Given the description of an element on the screen output the (x, y) to click on. 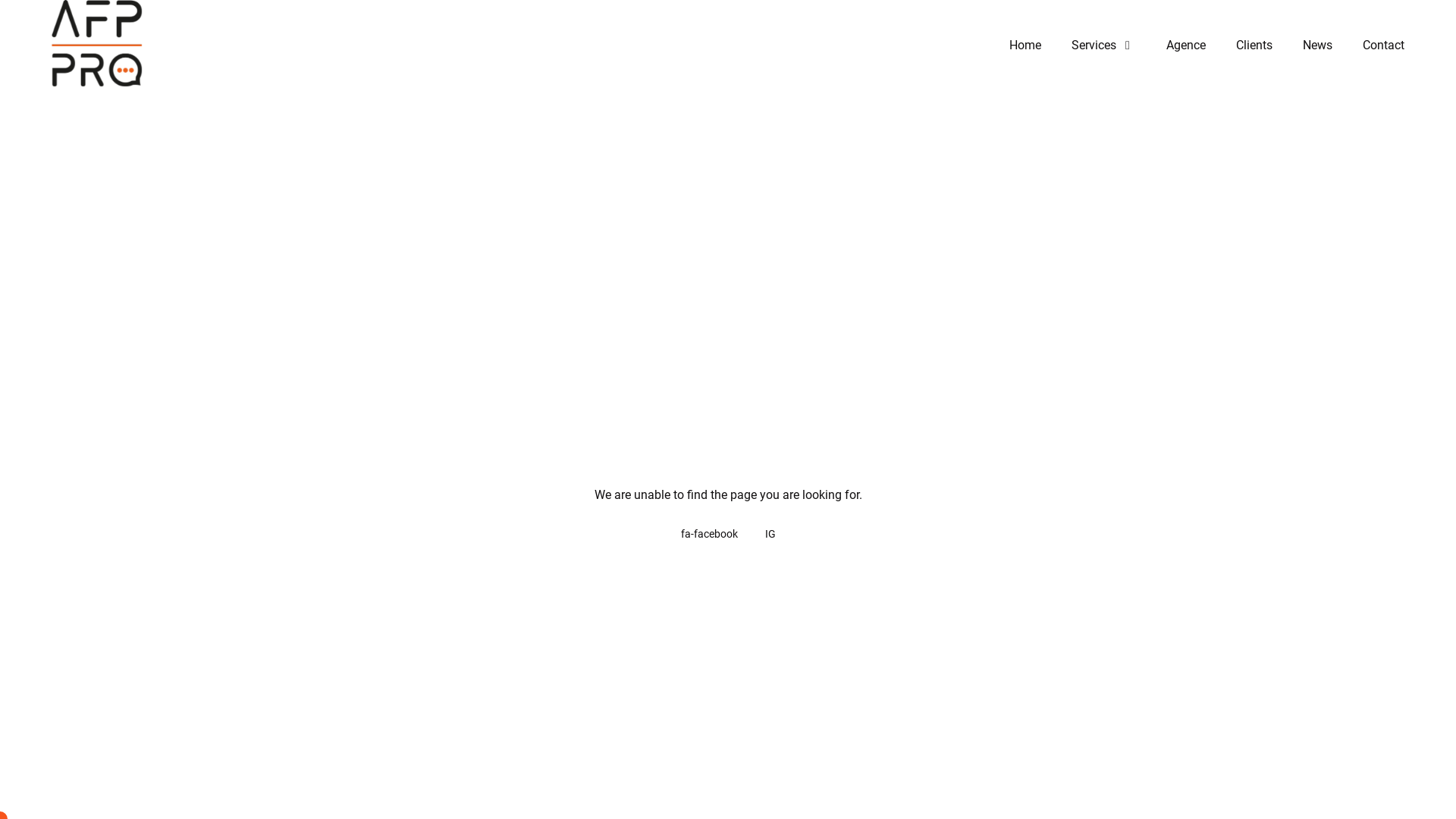
Home Element type: text (1025, 45)
Services Element type: text (1103, 45)
Clients Element type: text (1254, 45)
fa-facebook Element type: text (708, 534)
Agence Element type: text (1185, 45)
IG Element type: text (769, 534)
News Element type: text (1317, 45)
Contact Element type: text (1383, 45)
